Given the description of an element on the screen output the (x, y) to click on. 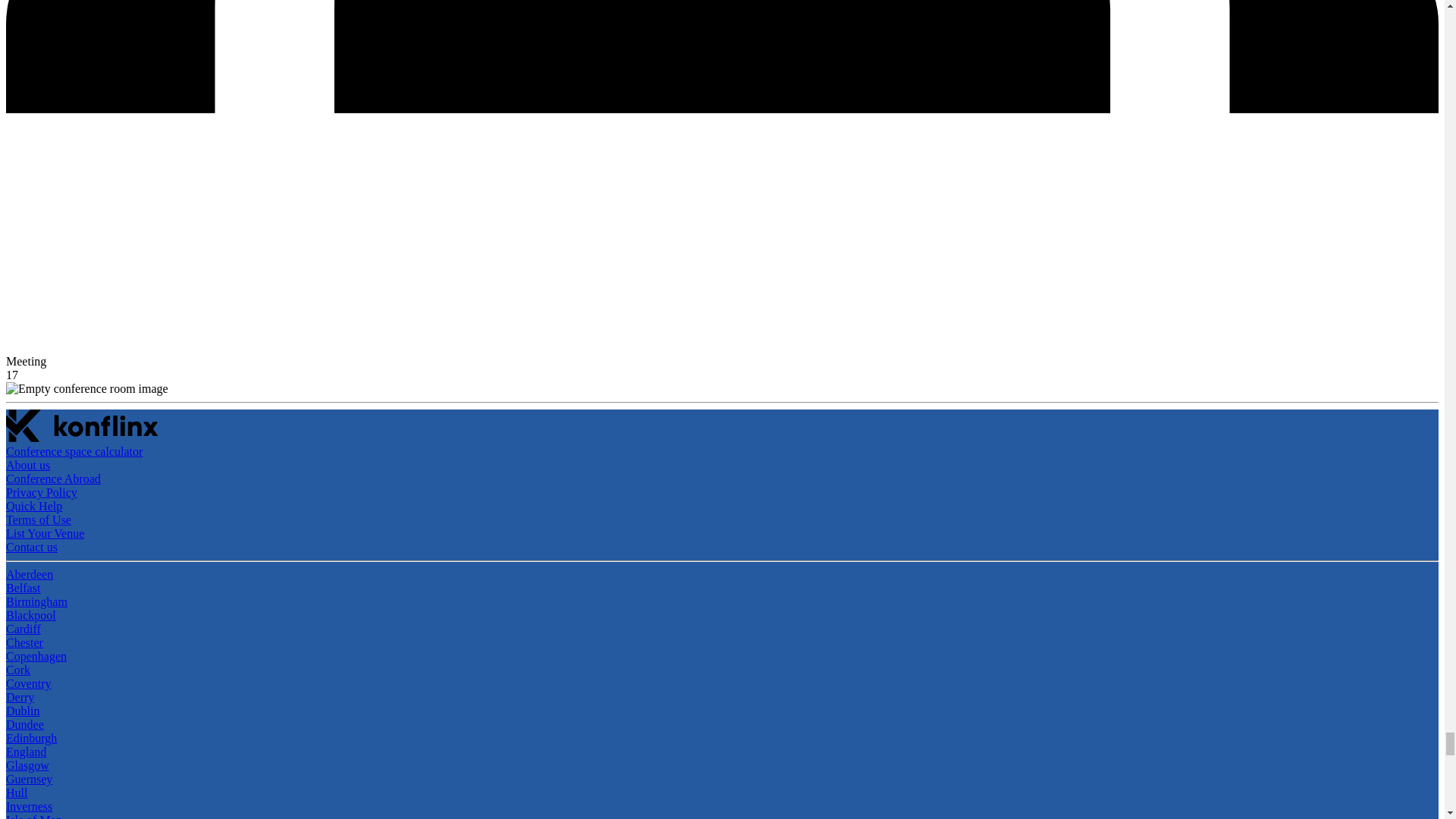
Terms of Use (38, 519)
Conference Abroad (52, 478)
Belfast (22, 587)
List Your Venue (44, 533)
Terms of Use (38, 519)
Conference Abroad (52, 478)
List Your Venue (44, 533)
Blackpool (30, 615)
Quick Help (33, 505)
Conference space calculator (73, 451)
